Given the description of an element on the screen output the (x, y) to click on. 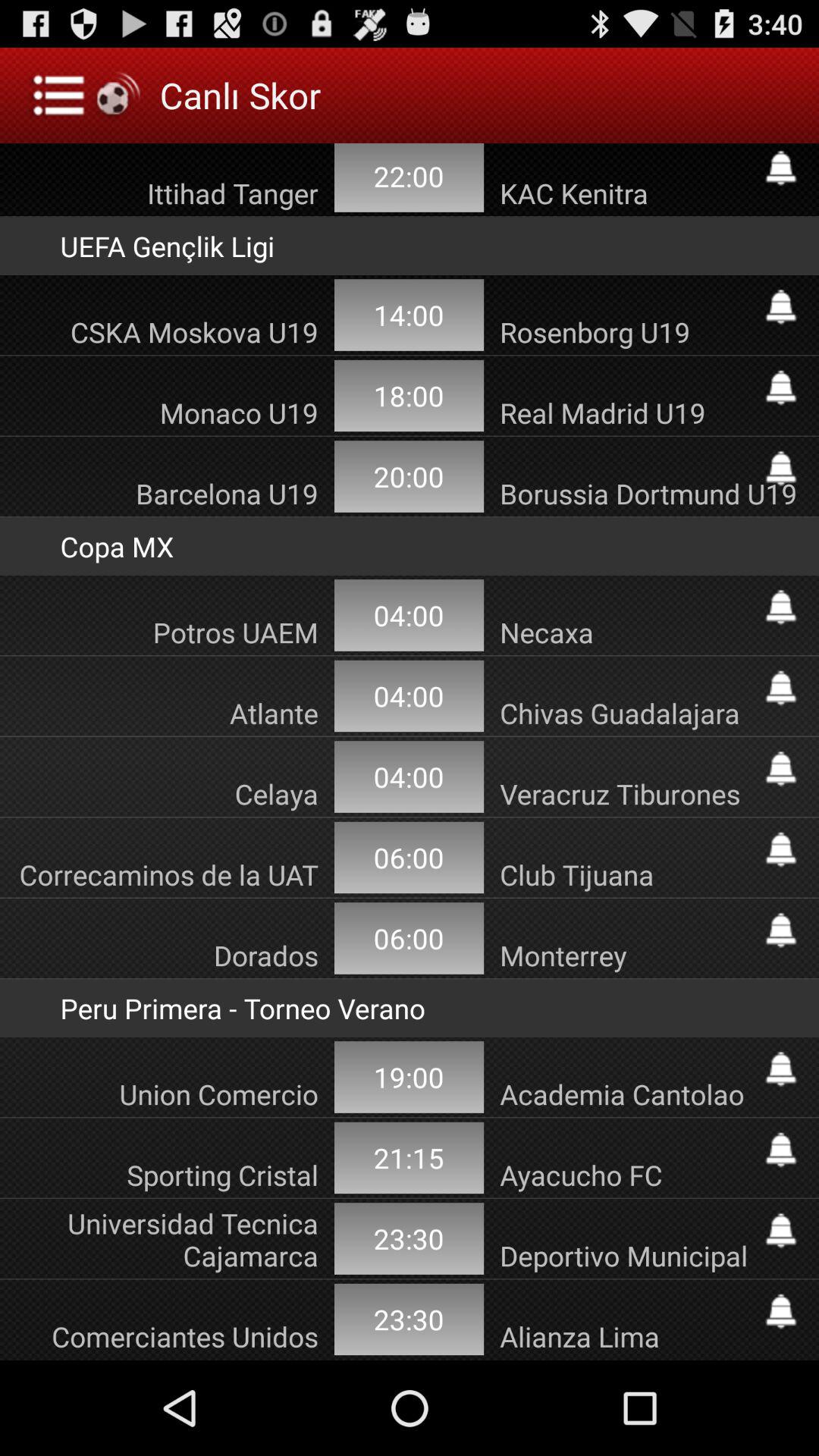
turn on the alarm for this event (780, 688)
